Given the description of an element on the screen output the (x, y) to click on. 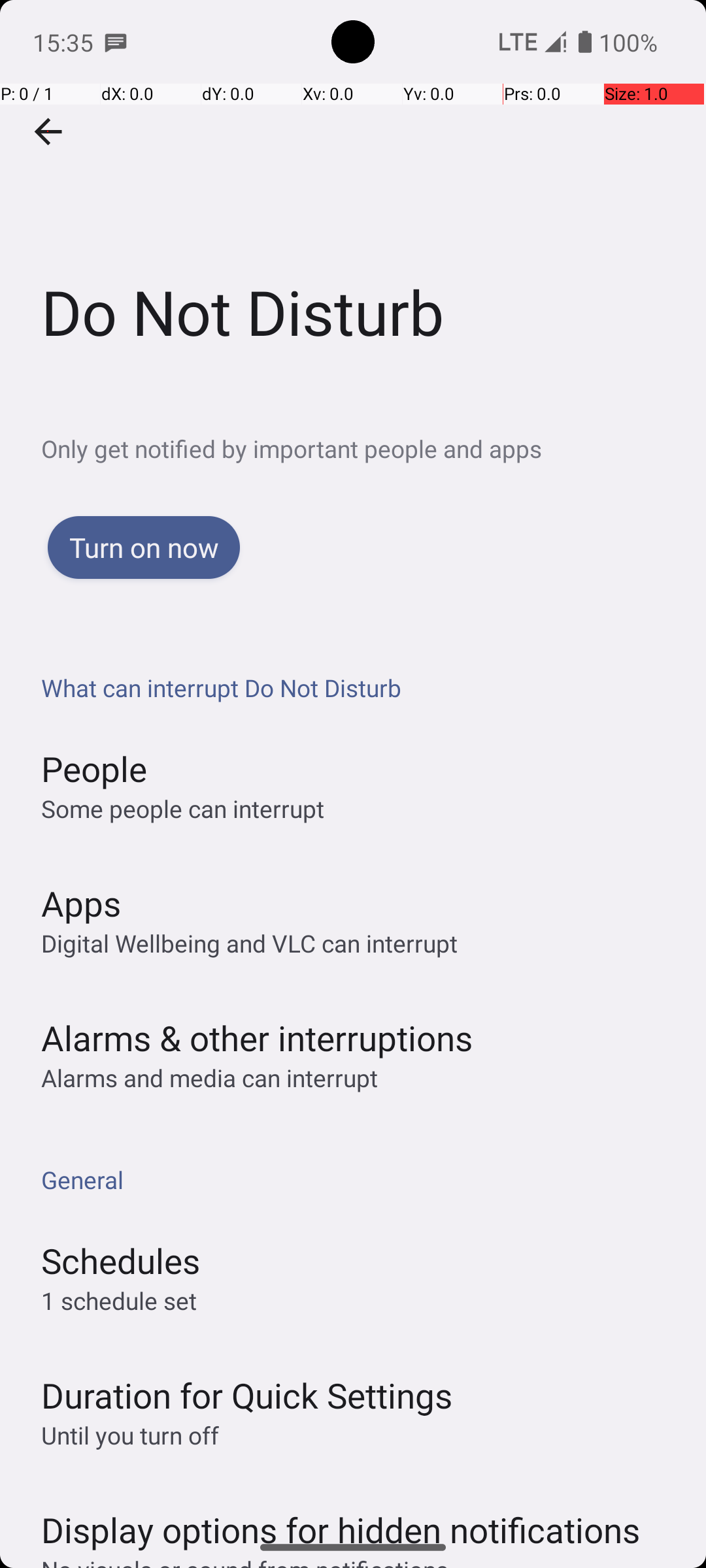
Only get notified by important people and apps Element type: android.widget.TextView (373, 448)
Turn on now Element type: android.widget.Button (143, 547)
What can interrupt Do Not Disturb Element type: android.widget.TextView (359, 687)
People Element type: android.widget.TextView (94, 768)
Some people can interrupt Element type: android.widget.TextView (182, 808)
Digital Wellbeing and VLC can interrupt Element type: android.widget.TextView (249, 942)
Alarms & other interruptions Element type: android.widget.TextView (256, 1037)
Alarms and media can interrupt Element type: android.widget.TextView (209, 1077)
Schedules Element type: android.widget.TextView (120, 1260)
1 schedule set Element type: android.widget.TextView (118, 1300)
Duration for Quick Settings Element type: android.widget.TextView (246, 1395)
Until you turn off Element type: android.widget.TextView (129, 1434)
Display options for hidden notifications Element type: android.widget.TextView (340, 1516)
